Given the description of an element on the screen output the (x, y) to click on. 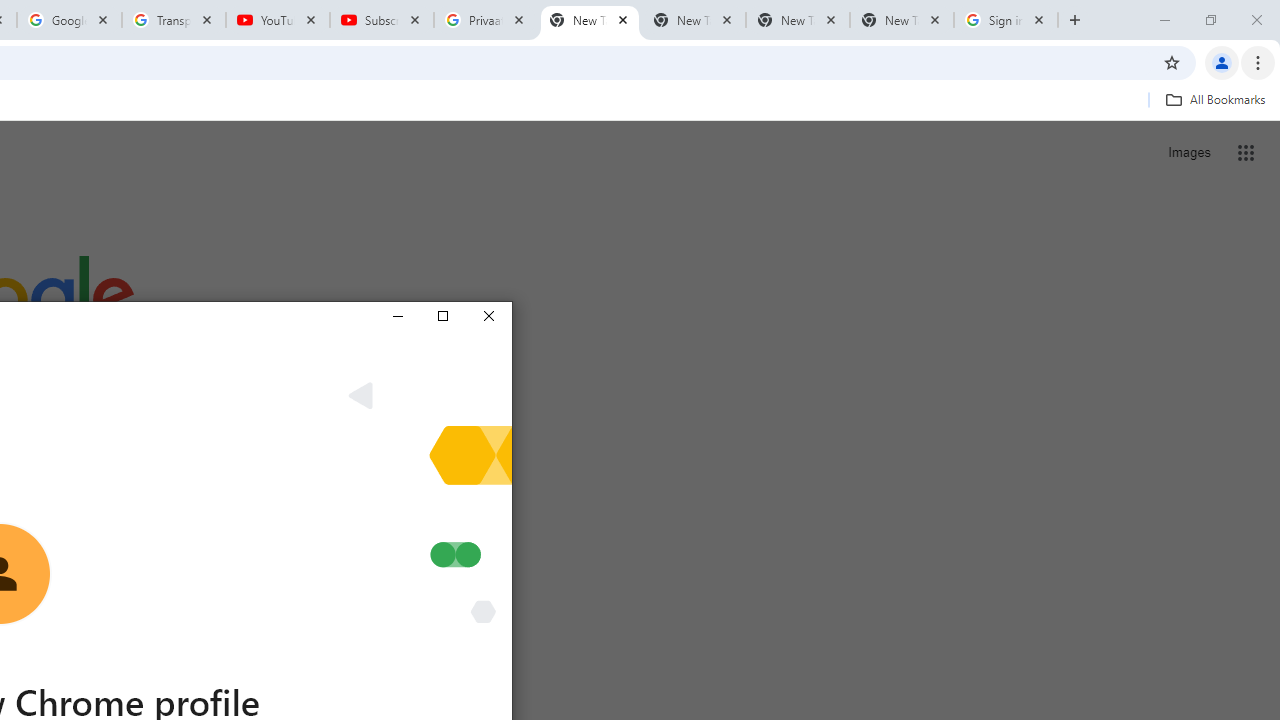
Subscriptions - YouTube (381, 20)
YouTube (278, 20)
Google Account (68, 20)
New Tab (901, 20)
Maximize (442, 316)
Sign in - Google Accounts (1005, 20)
New Tab (589, 20)
